Given the description of an element on the screen output the (x, y) to click on. 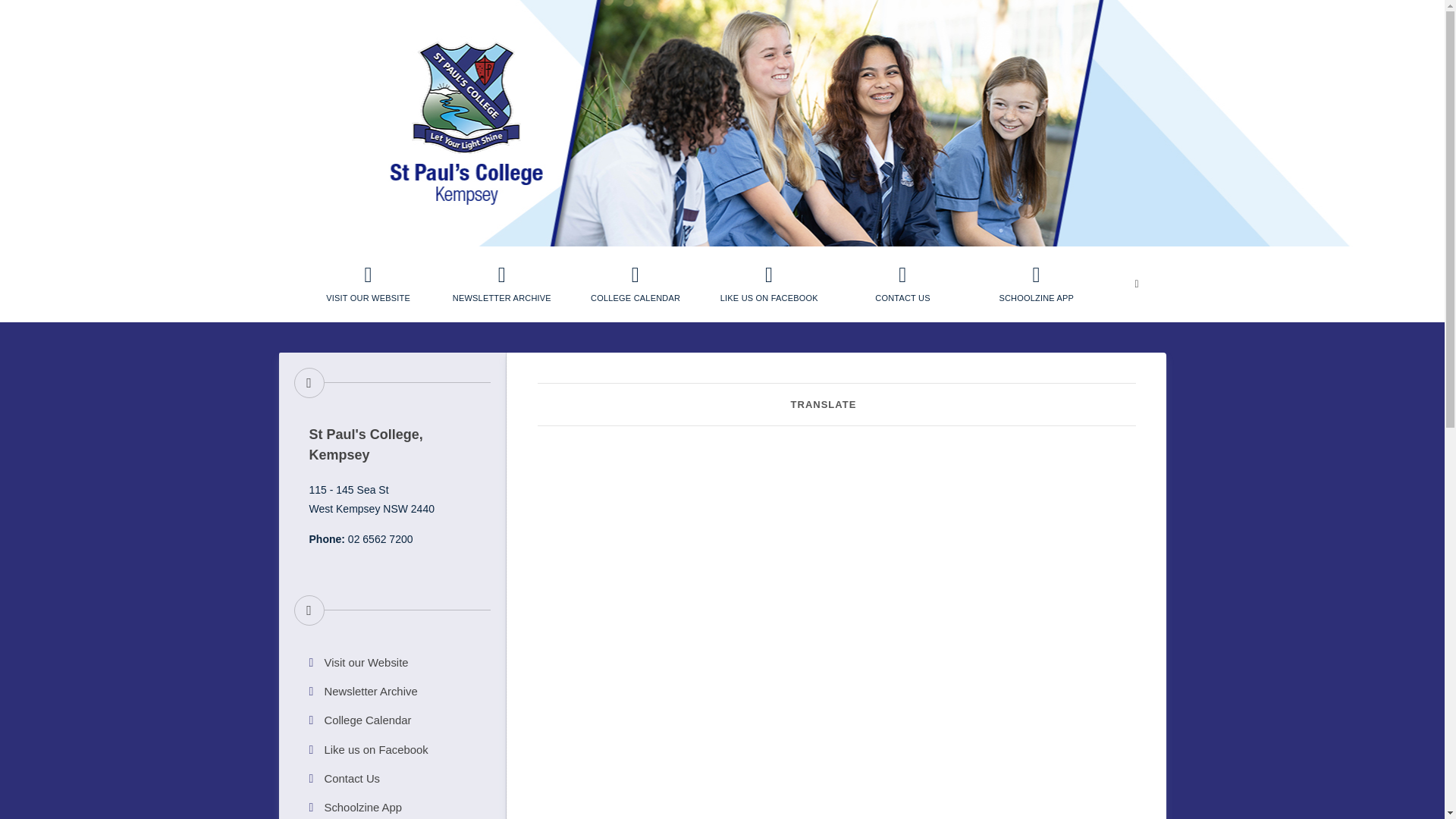
Newsletter Archive (392, 690)
Newsletter Archive (502, 284)
College Calendar (635, 284)
Schoolzine App (1036, 284)
LIKE US ON FACEBOOK (768, 284)
SCHOOLZINE APP (1036, 284)
COLLEGE CALENDAR (635, 284)
Visit our Website (368, 284)
Like us on Facebook (392, 749)
Contact Us (392, 778)
